Given the description of an element on the screen output the (x, y) to click on. 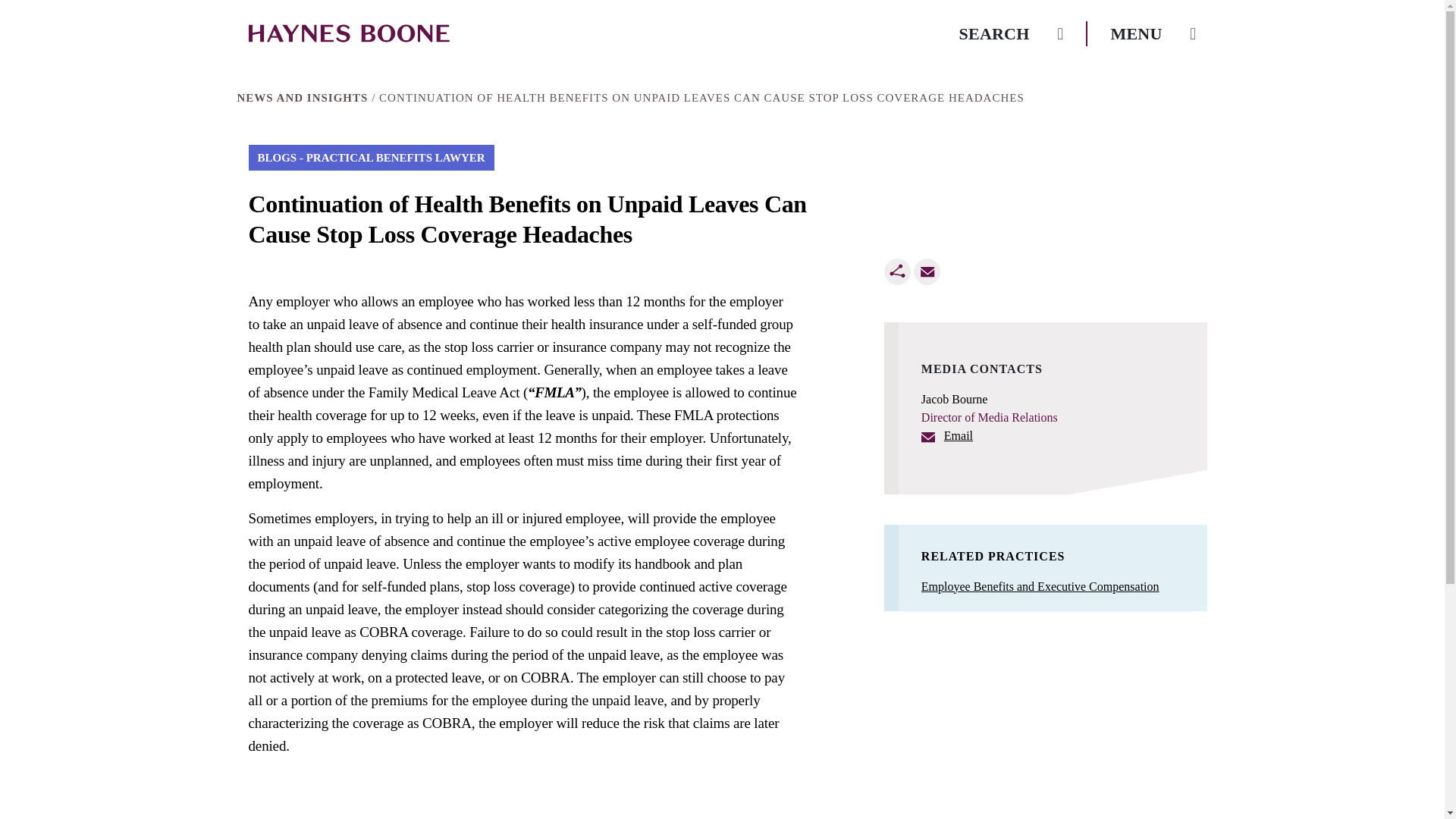
SEARCH (1011, 33)
Haynes Boone (348, 33)
Email (927, 270)
Search (1011, 33)
MENU (1152, 33)
Menu (1152, 33)
